Given the description of an element on the screen output the (x, y) to click on. 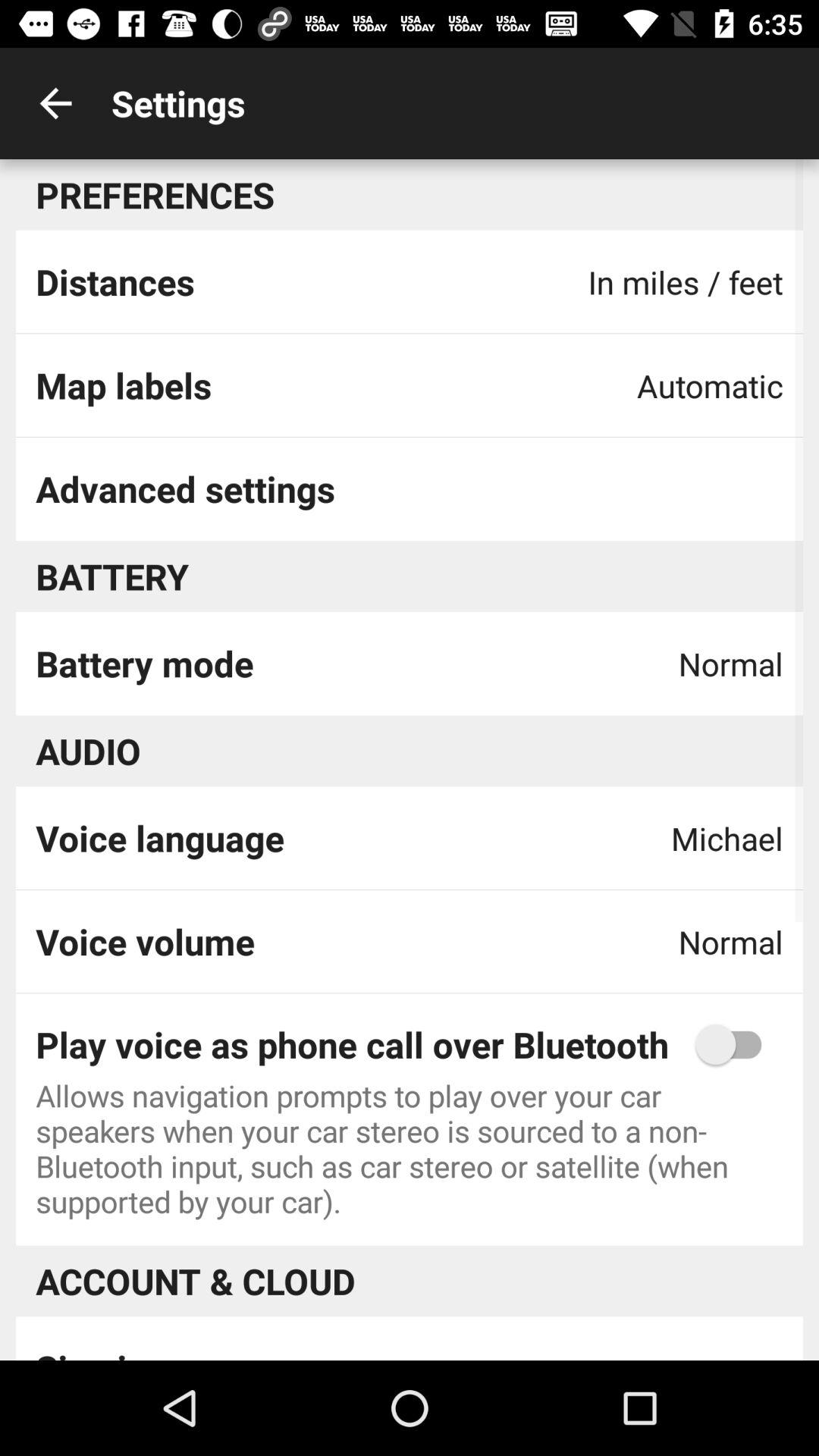
open app next to the automatic item (123, 385)
